Given the description of an element on the screen output the (x, y) to click on. 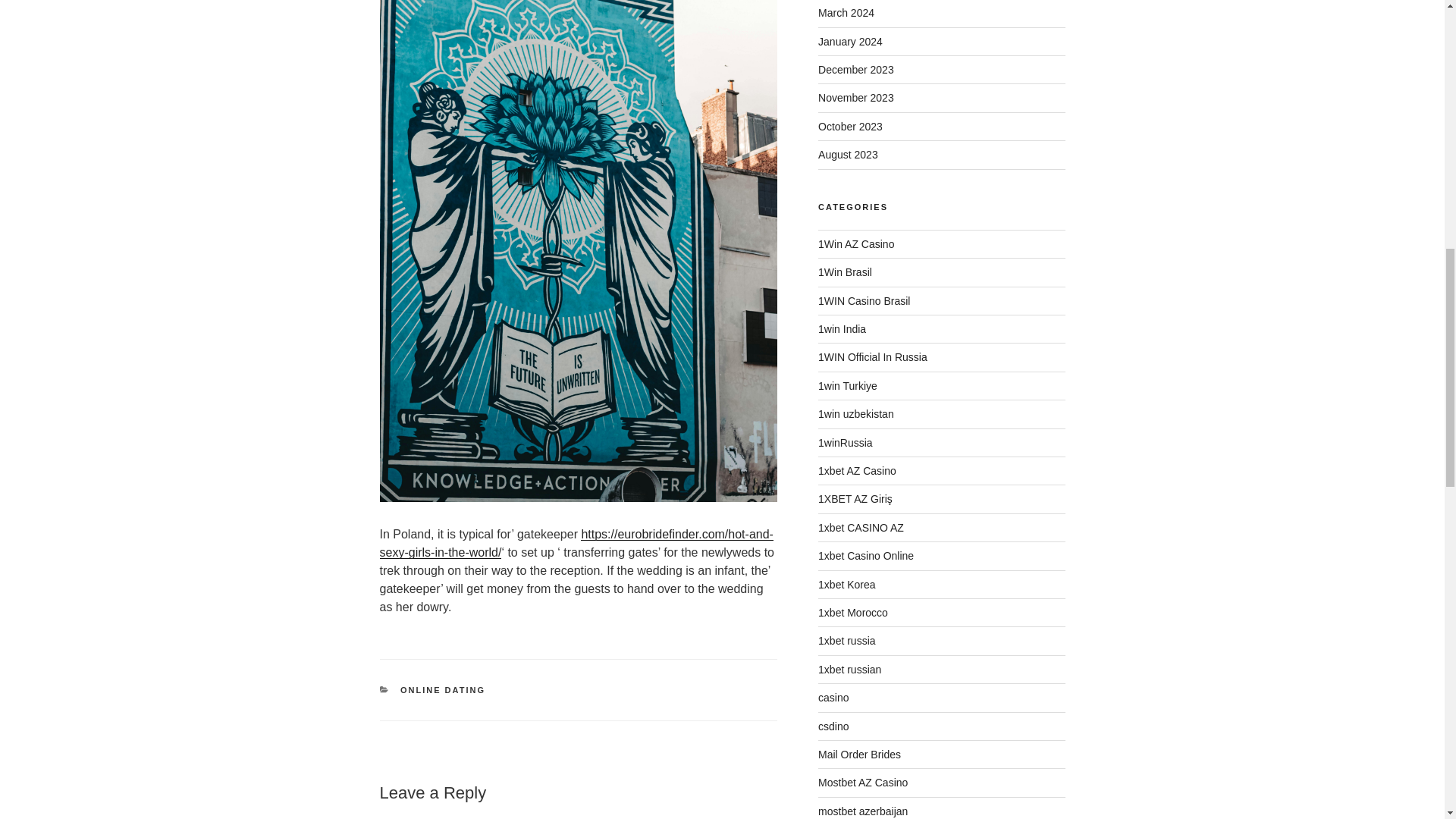
August 2023 (847, 154)
1WIN Casino Brasil (864, 300)
1win India (842, 328)
1Win Brasil (845, 272)
1WIN Official In Russia (872, 357)
1xbet CASINO AZ (861, 527)
1win uzbekistan (855, 413)
1winRussia (845, 442)
1xbet AZ Casino (857, 470)
1Win AZ Casino (855, 244)
